Given the description of an element on the screen output the (x, y) to click on. 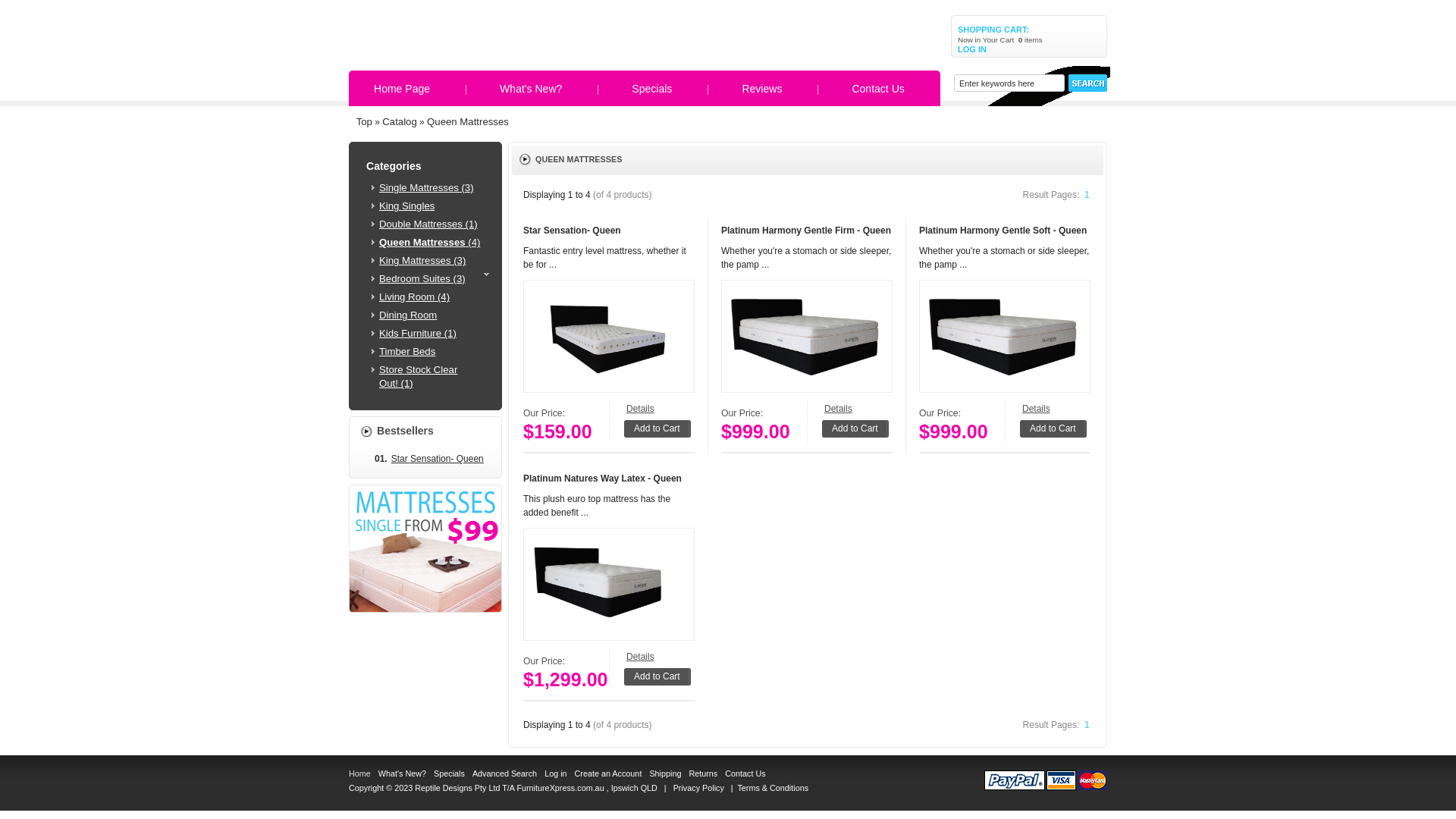
Platinum Natures Way Latex - Queen Element type: text (602, 478)
Specials Element type: text (651, 88)
 SingleMX  Element type: hover (425, 548)
Add to Cart Element type: text (1052, 428)
Contact Us Element type: text (744, 773)
Privacy Policy Element type: text (698, 787)
 Platinum Natures Way Latex - Queen  Element type: hover (608, 583)
What's New? Element type: text (401, 773)
What's New? Element type: text (530, 88)
Platinum Harmony Gentle Firm - Queen Element type: text (806, 230)
Kids Furniture (1) Element type: text (430, 333)
Shipping Element type: text (664, 773)
Add to Cart Element type: text (656, 428)
Single Mattresses (3) Element type: text (430, 187)
Queen Mattresses (4) Element type: text (430, 242)
Double Mattresses (1) Element type: text (430, 223)
Details Element type: text (1036, 408)
Store Stock Clear Out! (1) Element type: text (430, 376)
Details Element type: text (838, 408)
Dining Room Element type: text (430, 314)
Queen Mattresses Element type: text (467, 121)
Catalog Element type: text (399, 121)
Terms & Conditions Element type: text (772, 787)
Specials Element type: text (448, 773)
Platinum Harmony Gentle Soft - Queen Element type: text (1002, 230)
Create an Account Element type: text (608, 773)
Home Page Element type: text (401, 88)
 Star Sensation- Queen  Element type: hover (608, 335)
Star Sensation- Queen Element type: text (572, 230)
Returns Element type: text (702, 773)
SHOPPING CART: Element type: text (1032, 29)
 Platinum Harmony Gentle Soft - Queen  Element type: hover (1004, 335)
Top Element type: text (364, 121)
Home Element type: text (359, 773)
Contact Us Element type: text (877, 88)
Add to Cart Element type: text (854, 428)
King Mattresses (3) Element type: text (430, 260)
FurnitureXpress.com.au Element type: text (559, 787)
Details Element type: text (640, 656)
LOG IN Element type: text (1032, 49)
0 items Element type: text (1029, 39)
Star Sensation- Queen Element type: text (438, 458)
Details Element type: text (640, 408)
Add to Cart Element type: text (656, 676)
Reviews Element type: text (761, 88)
Log in Element type: text (555, 773)
Advanced Search Element type: text (504, 773)
 Platinum Harmony Gentle Firm - Queen  Element type: hover (806, 335)
Timber Beds Element type: text (430, 351)
Living Room (4) Element type: text (430, 296)
Bedroom Suites
 (3) Element type: text (430, 278)
King Singles Element type: text (430, 205)
